Given the description of an element on the screen output the (x, y) to click on. 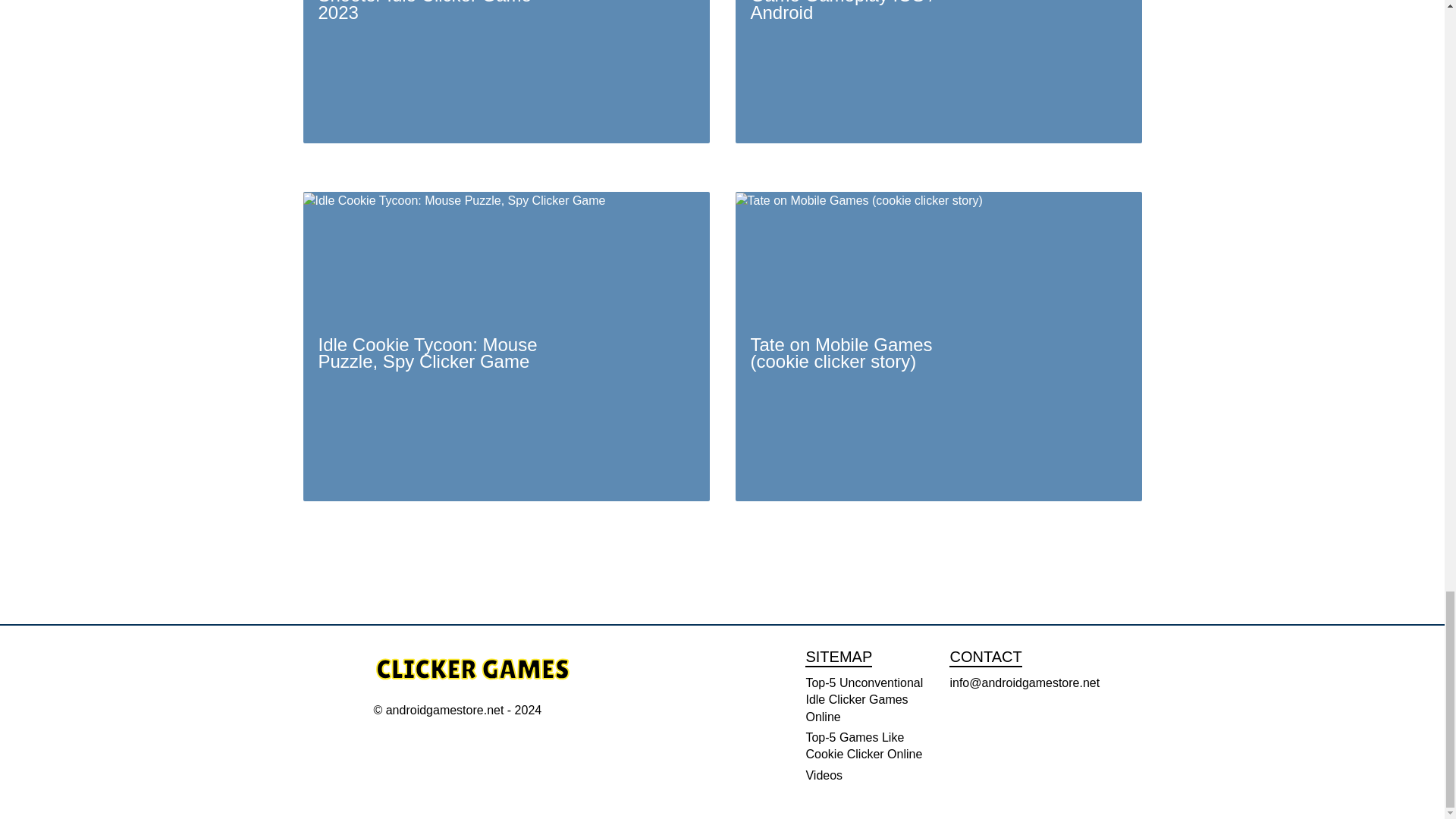
Idle Cookie Tycoon: Mouse Puzzle, Spy Clicker Game (506, 346)
Top-5 Games Like Cookie Clicker Online (863, 745)
Top-5 Unconventional Idle Clicker Games Online (864, 699)
Videos (824, 775)
